Given the description of an element on the screen output the (x, y) to click on. 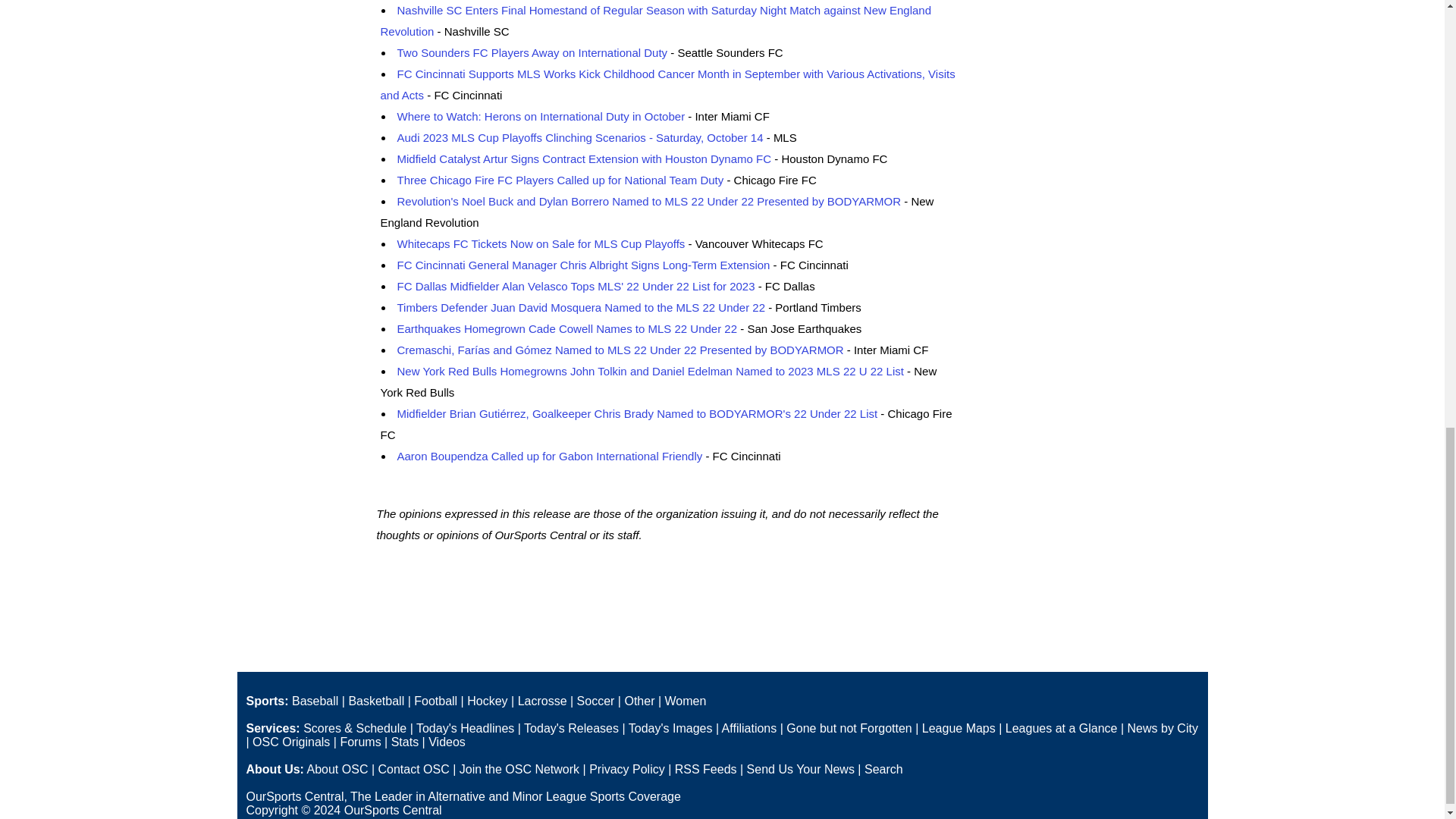
OSC Video (446, 741)
About OSC (336, 768)
Send Us Your News (800, 768)
Today's Images (670, 727)
Today's Releases (571, 727)
Join the OSC Network (519, 768)
Sports Statistics (405, 741)
Privacy Policy (627, 768)
RSS Feeds (705, 768)
Today's Headlines (464, 727)
Gone but not Forgotten (848, 727)
Forums (359, 741)
League Maps (958, 727)
Contact OSC (412, 768)
News by City (1162, 727)
